Given the description of an element on the screen output the (x, y) to click on. 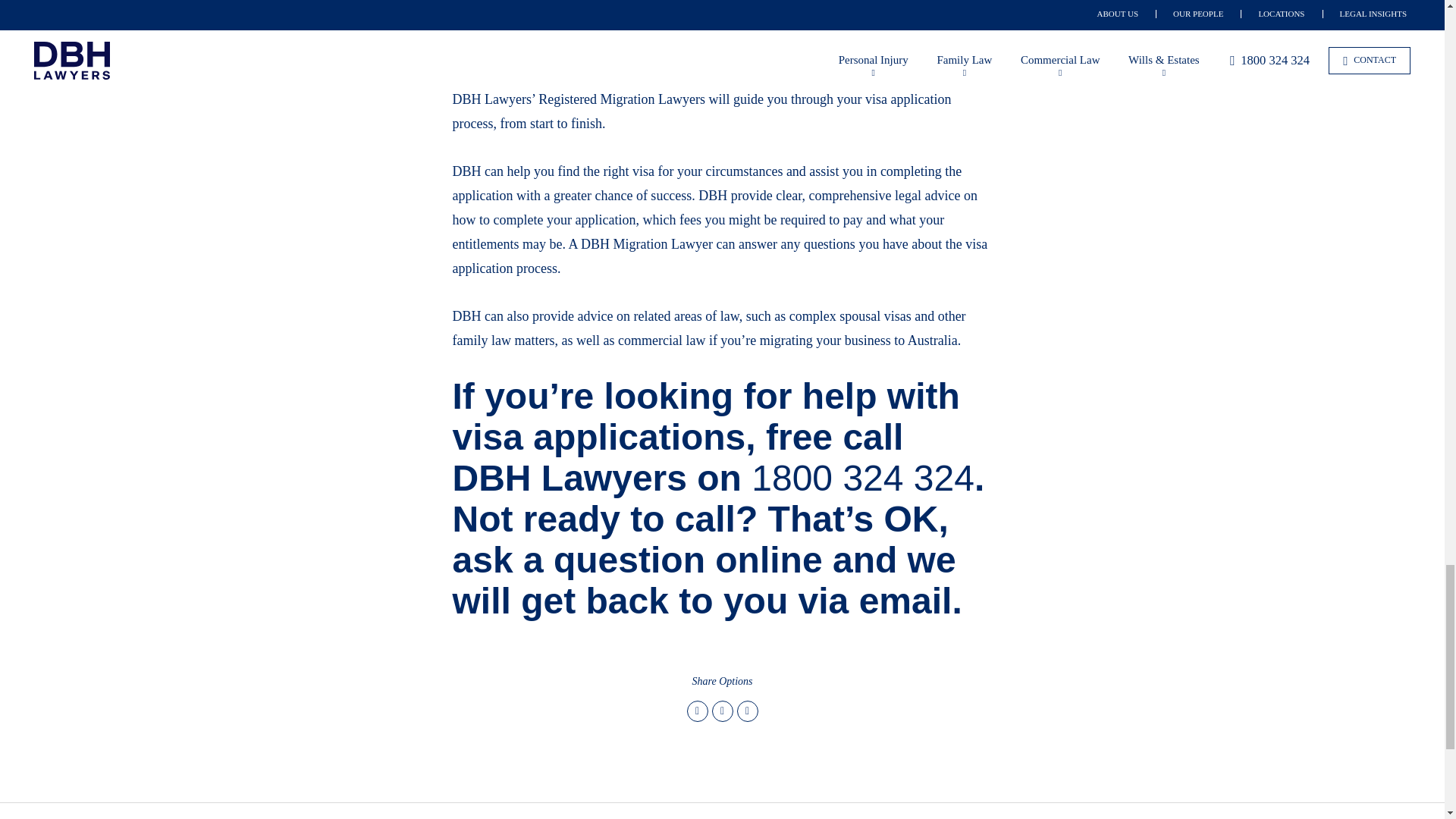
Share on Twitter (697, 711)
Share on LinkedIn (747, 711)
Share on Facebook (721, 711)
